Given the description of an element on the screen output the (x, y) to click on. 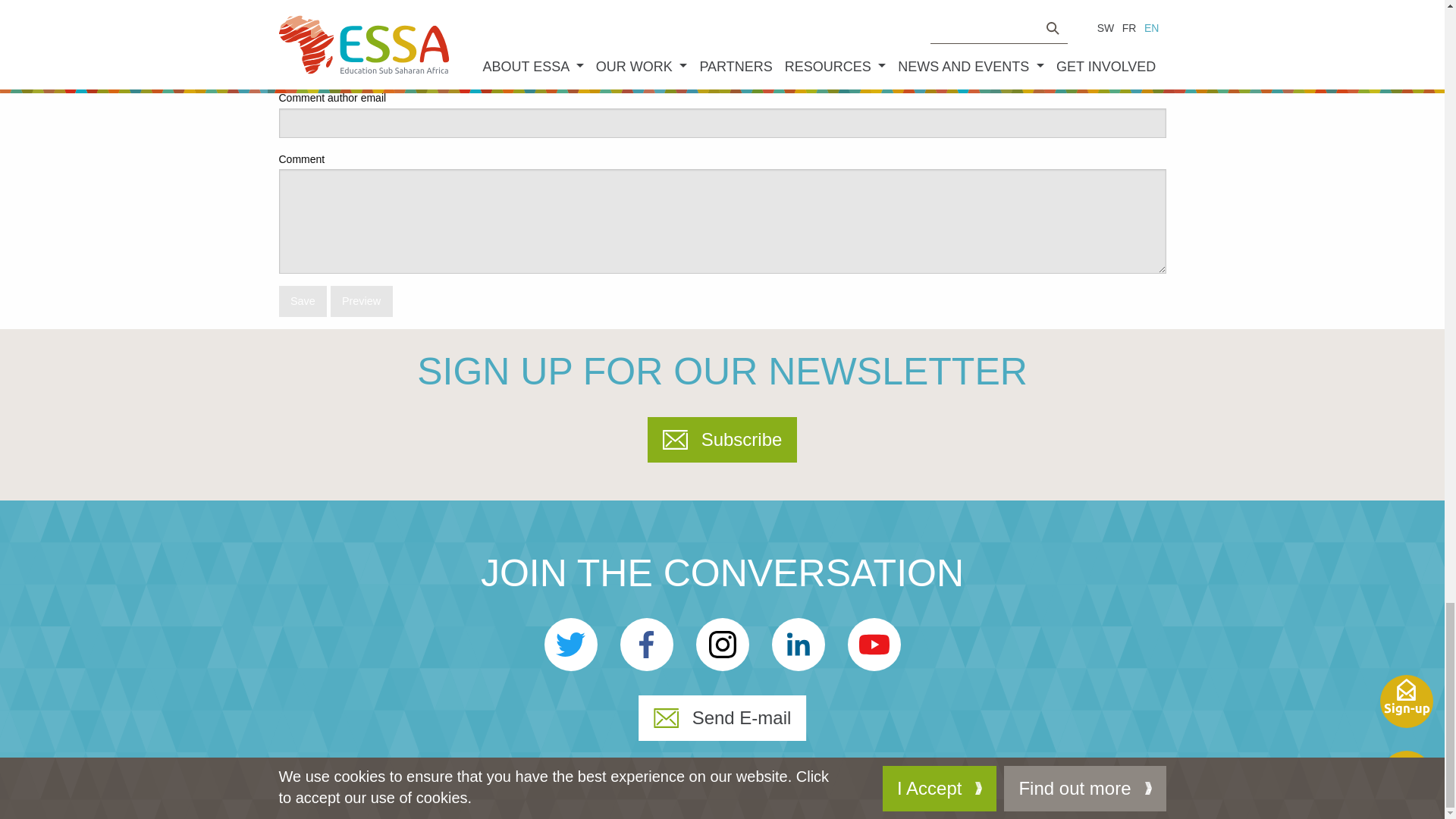
Preview (361, 300)
Save (303, 300)
